Given the description of an element on the screen output the (x, y) to click on. 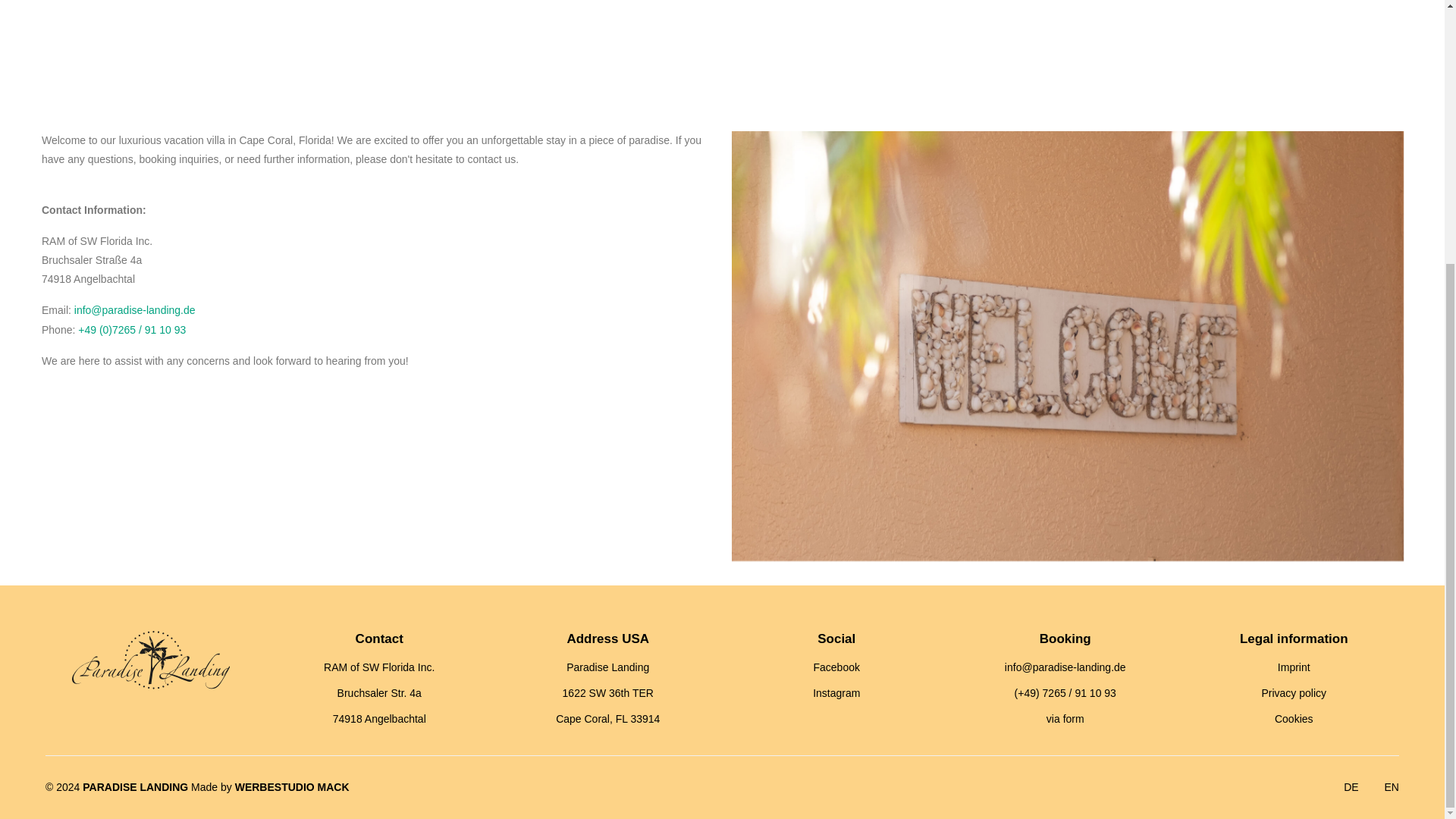
DE (1350, 787)
E-Mail senden (134, 309)
Facebook (835, 666)
anrufen (132, 329)
Instagram (836, 693)
EN (1391, 787)
Paradise Landing auf Facebook (835, 666)
WERBESTUDIO MACK (291, 787)
via form (1065, 718)
Paradise Landing auf Instagram (836, 693)
